Given the description of an element on the screen output the (x, y) to click on. 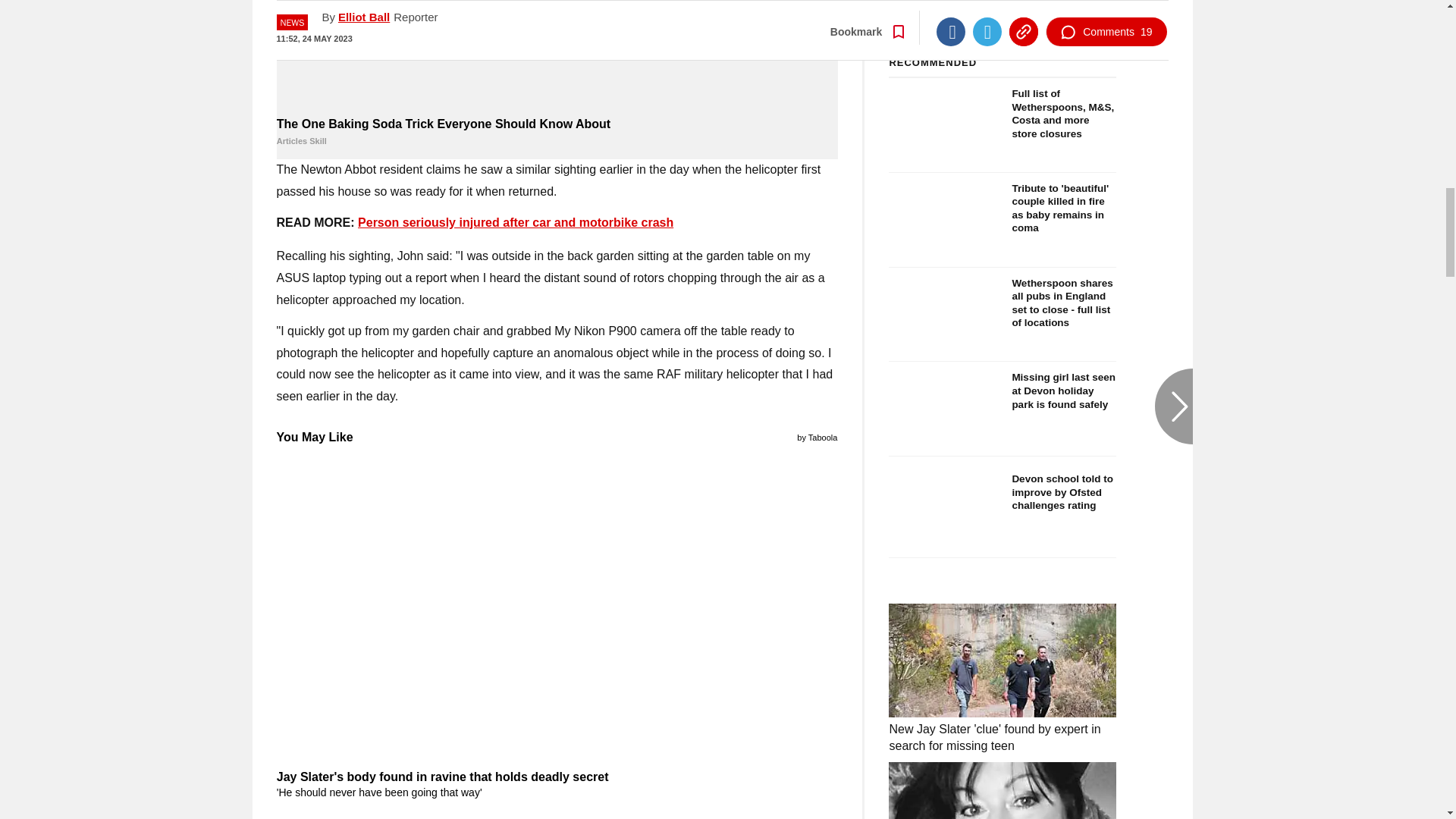
The One Baking Soda Trick Everyone Should Know About (557, 132)
The One Baking Soda Trick Everyone Should Know About (557, 56)
